Given the description of an element on the screen output the (x, y) to click on. 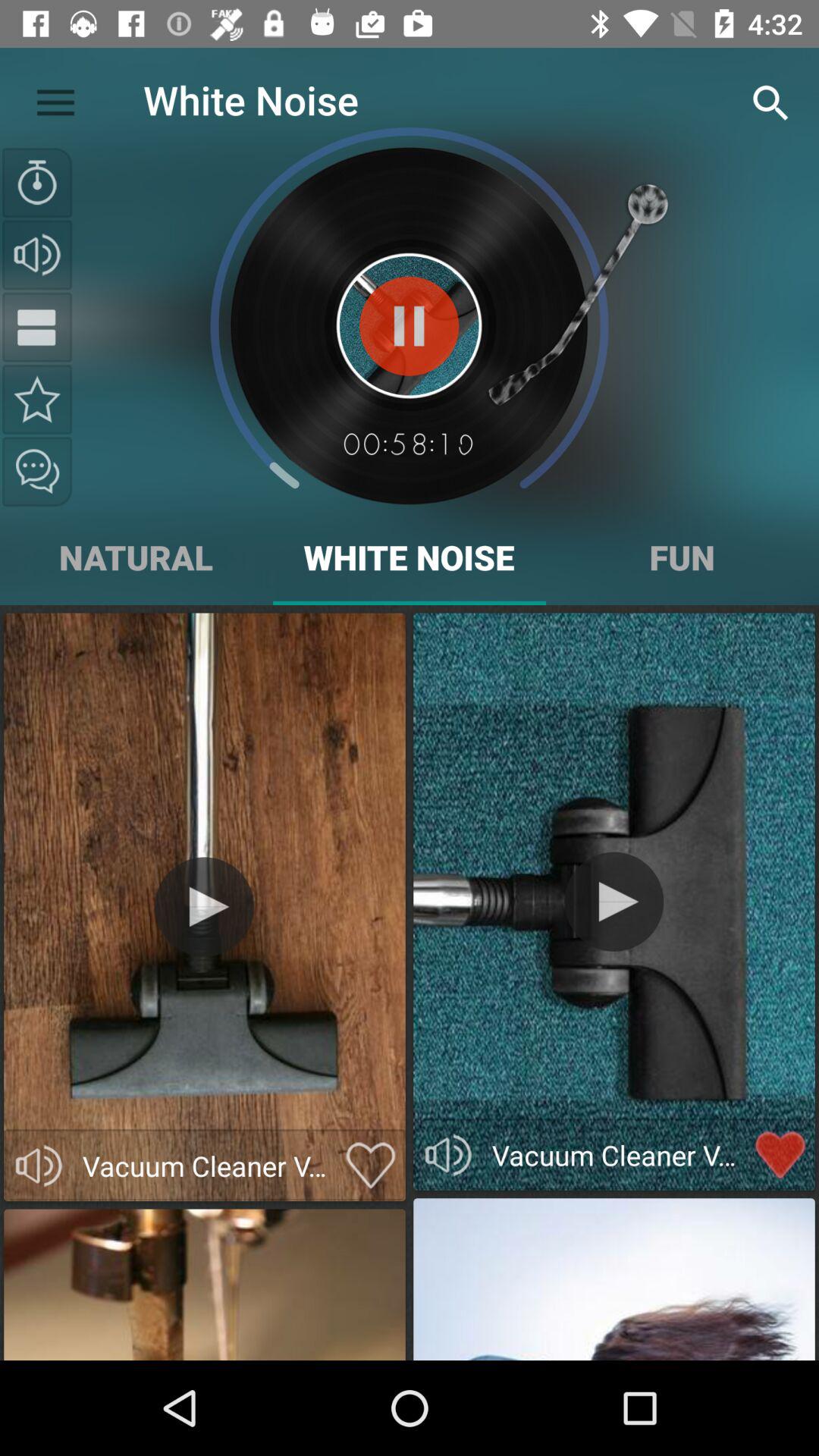
launch the app to the left of white noise app (55, 99)
